Given the description of an element on the screen output the (x, y) to click on. 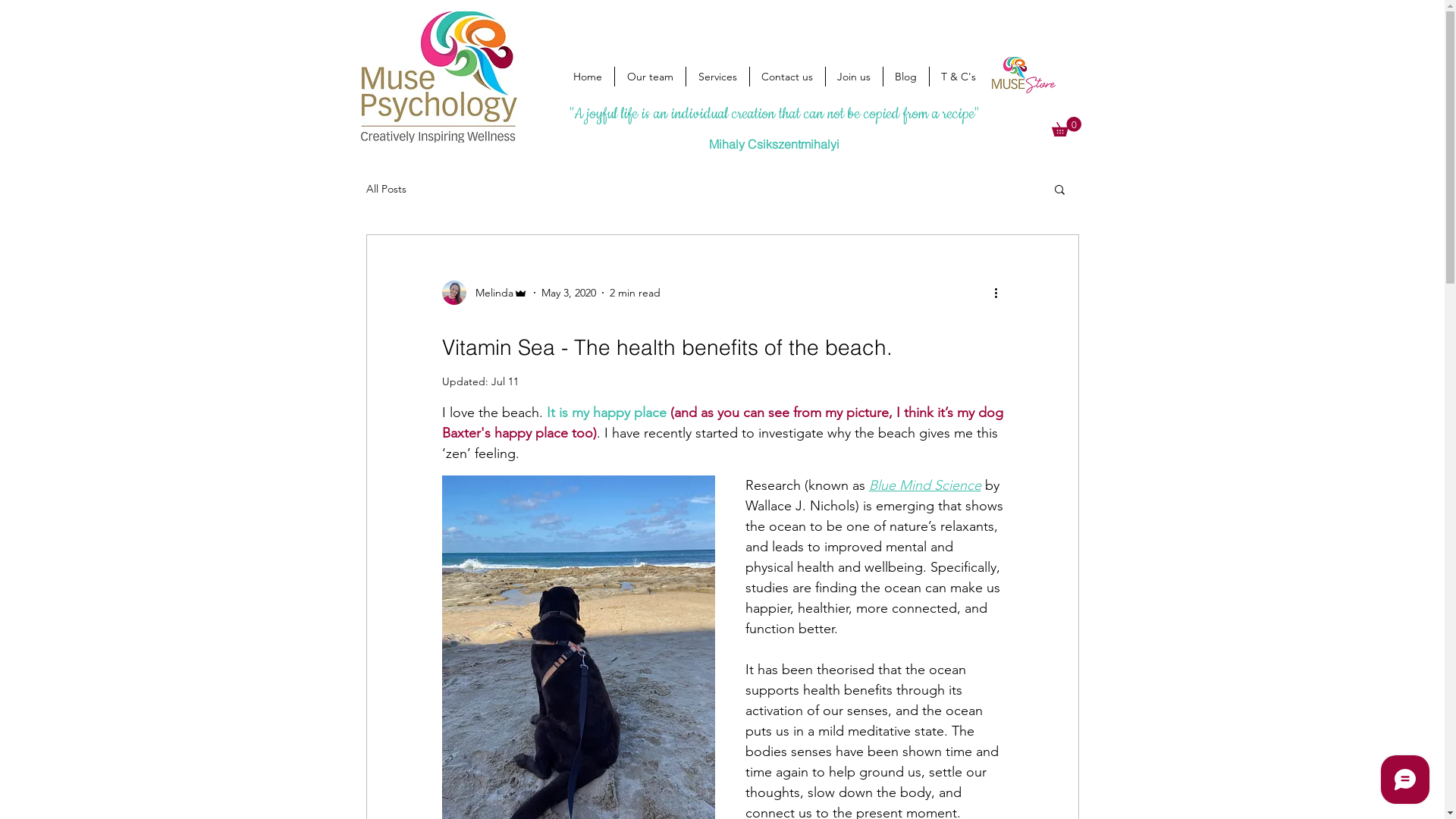
Blue Mind Science Element type: text (925, 484)
Home Element type: text (587, 76)
Melinda Element type: text (484, 292)
Join us Element type: text (853, 76)
T & C's Element type: text (957, 76)
Contact us Element type: text (787, 76)
Services Element type: text (717, 76)
Blog Element type: text (905, 76)
0 Element type: text (1065, 126)
All Posts Element type: text (385, 188)
Our team Element type: text (649, 76)
